Given the description of an element on the screen output the (x, y) to click on. 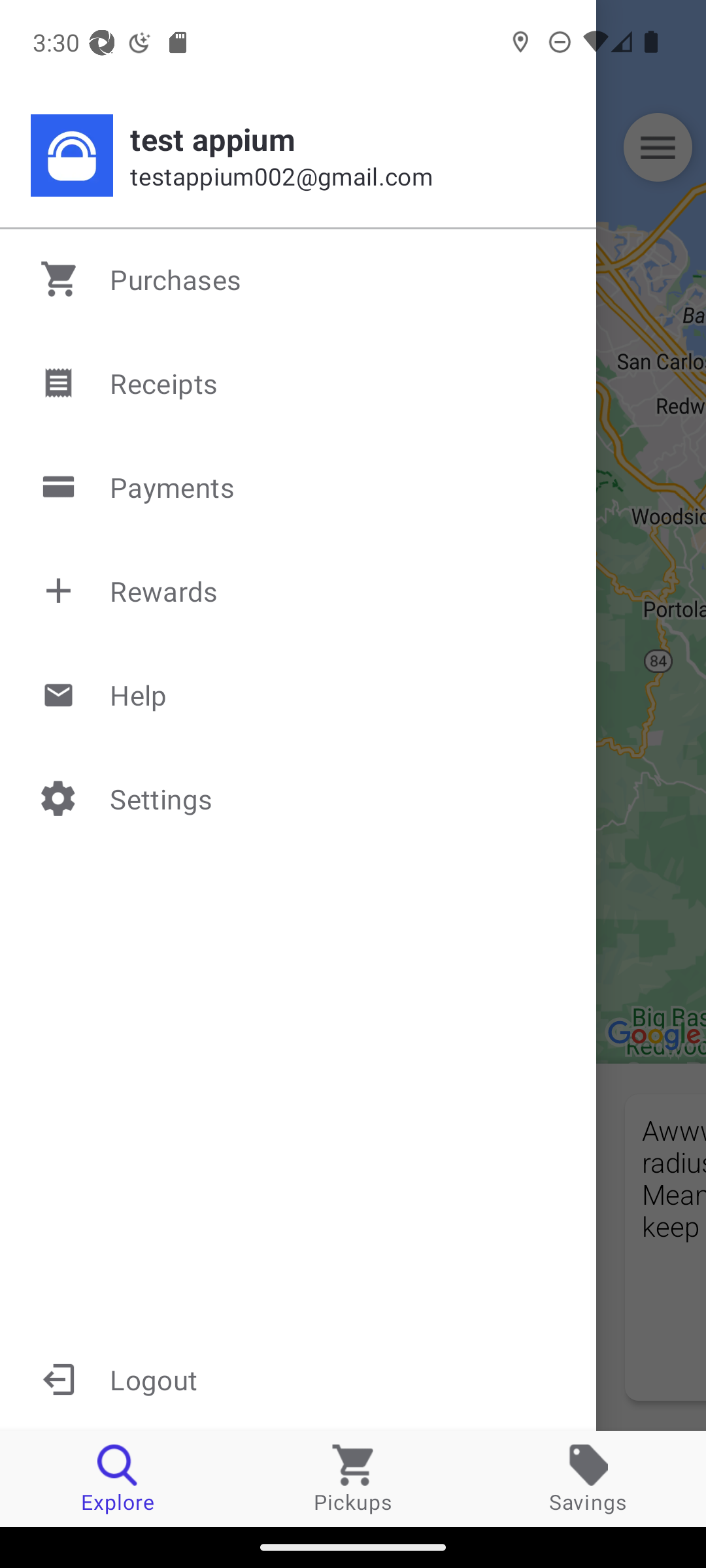
Purchases (299, 278)
Receipts (299, 382)
Payments (299, 487)
Rewards (299, 590)
Help (299, 694)
Settings (299, 797)
Logout (297, 1379)
Pickups (352, 1478)
Savings (588, 1478)
